Given the description of an element on the screen output the (x, y) to click on. 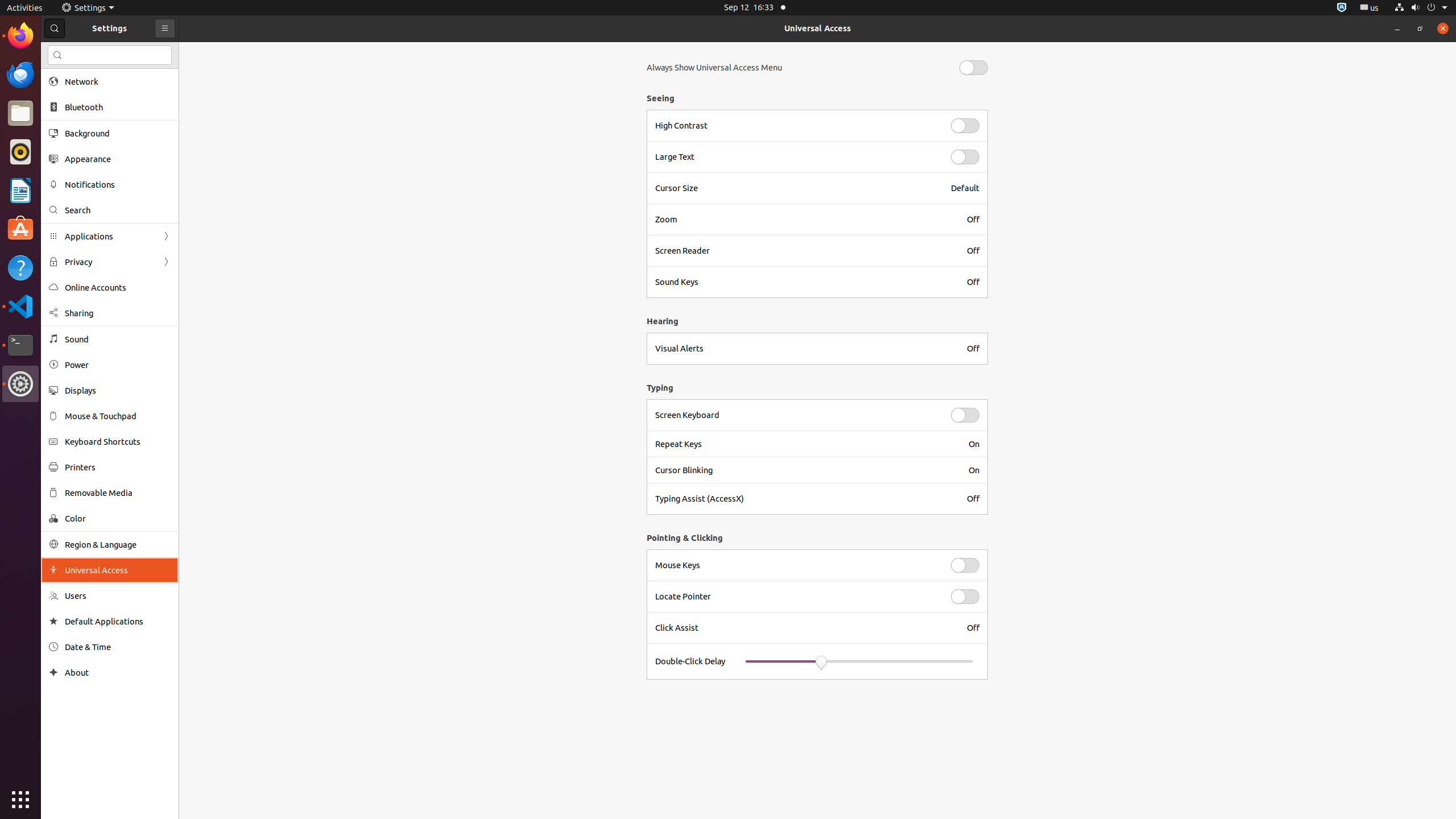
Click Assist Element type: label (804, 627)
Privacy Element type: label (109, 261)
Online Accounts Element type: label (117, 287)
Activities Element type: label (24, 7)
